Given the description of an element on the screen output the (x, y) to click on. 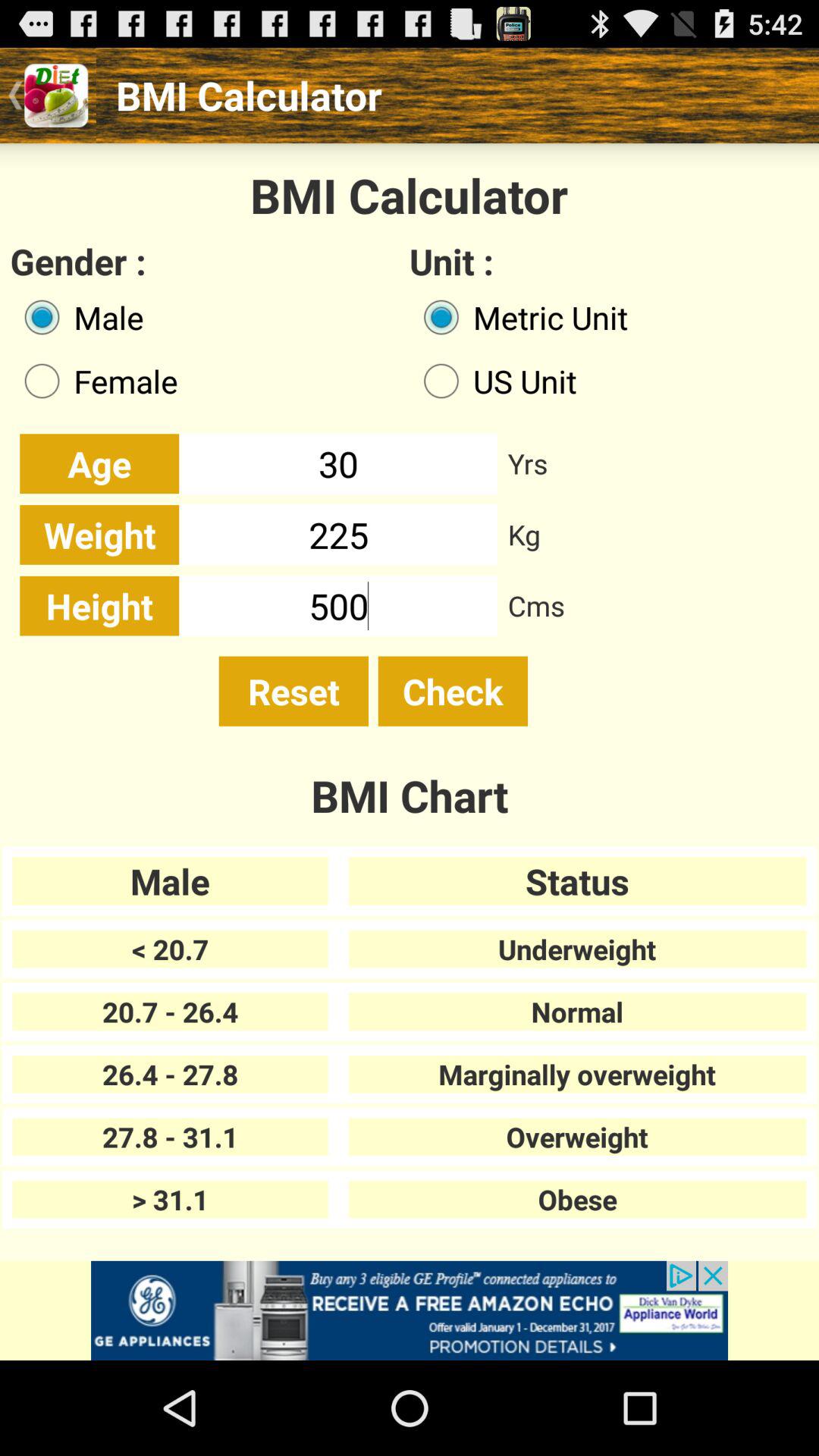
advertisement (409, 1310)
